Given the description of an element on the screen output the (x, y) to click on. 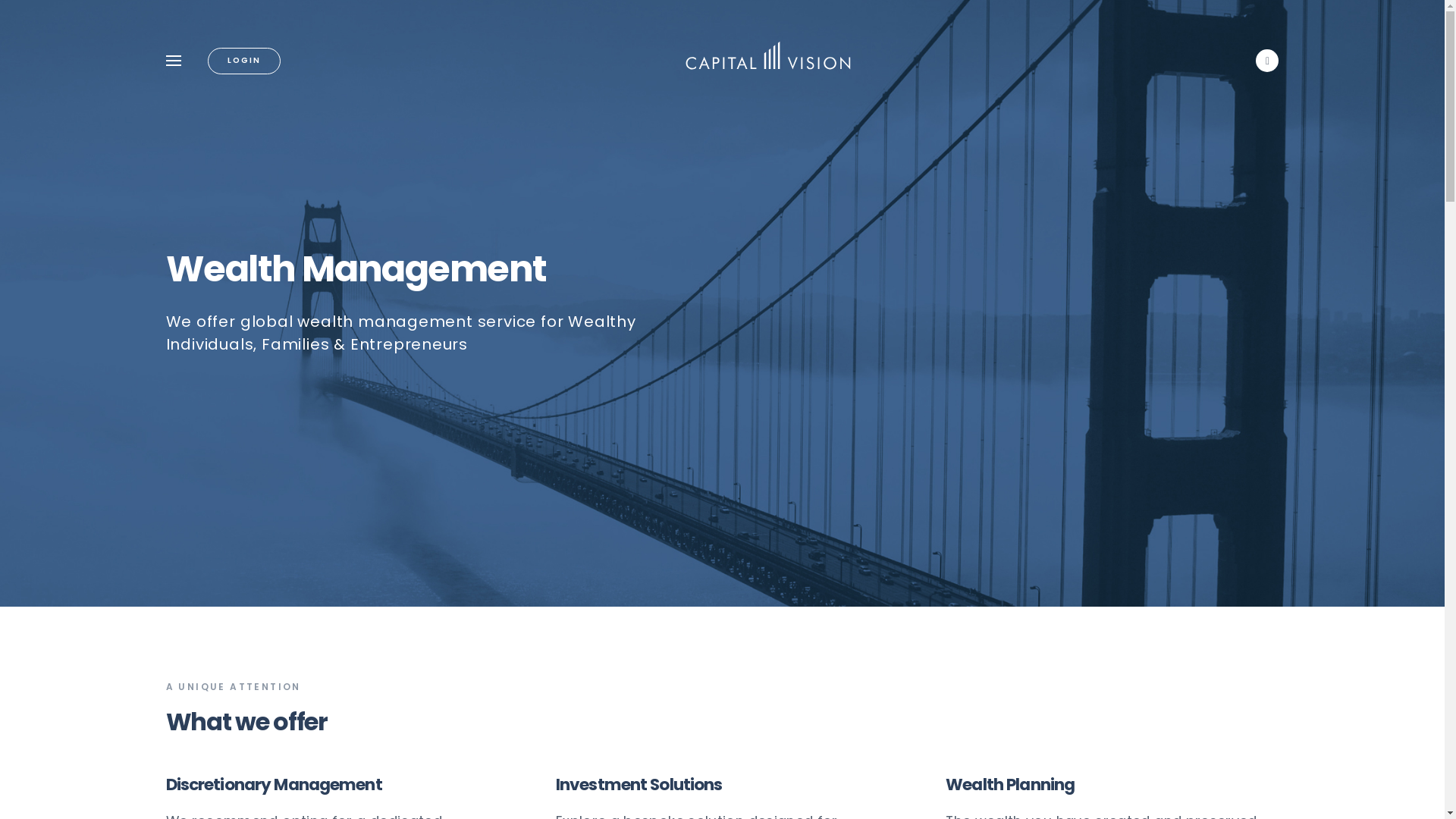
LOGIN Element type: text (243, 60)
